Given the description of an element on the screen output the (x, y) to click on. 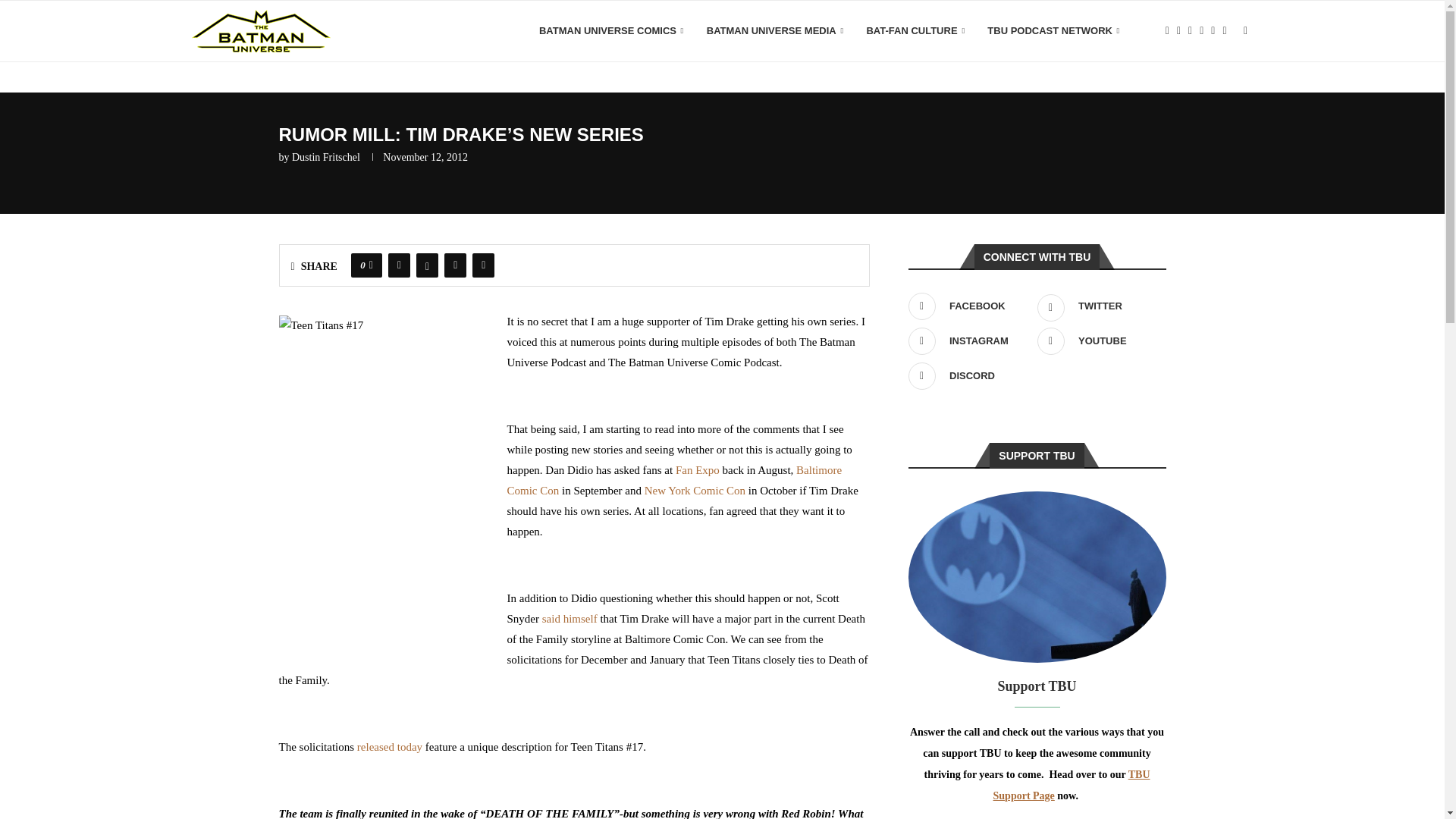
TBU PODCAST NETWORK (1053, 30)
BATMAN UNIVERSE COMICS (611, 30)
BATMAN UNIVERSE MEDIA (775, 30)
BAT-FAN CULTURE (914, 30)
